Given the description of an element on the screen output the (x, y) to click on. 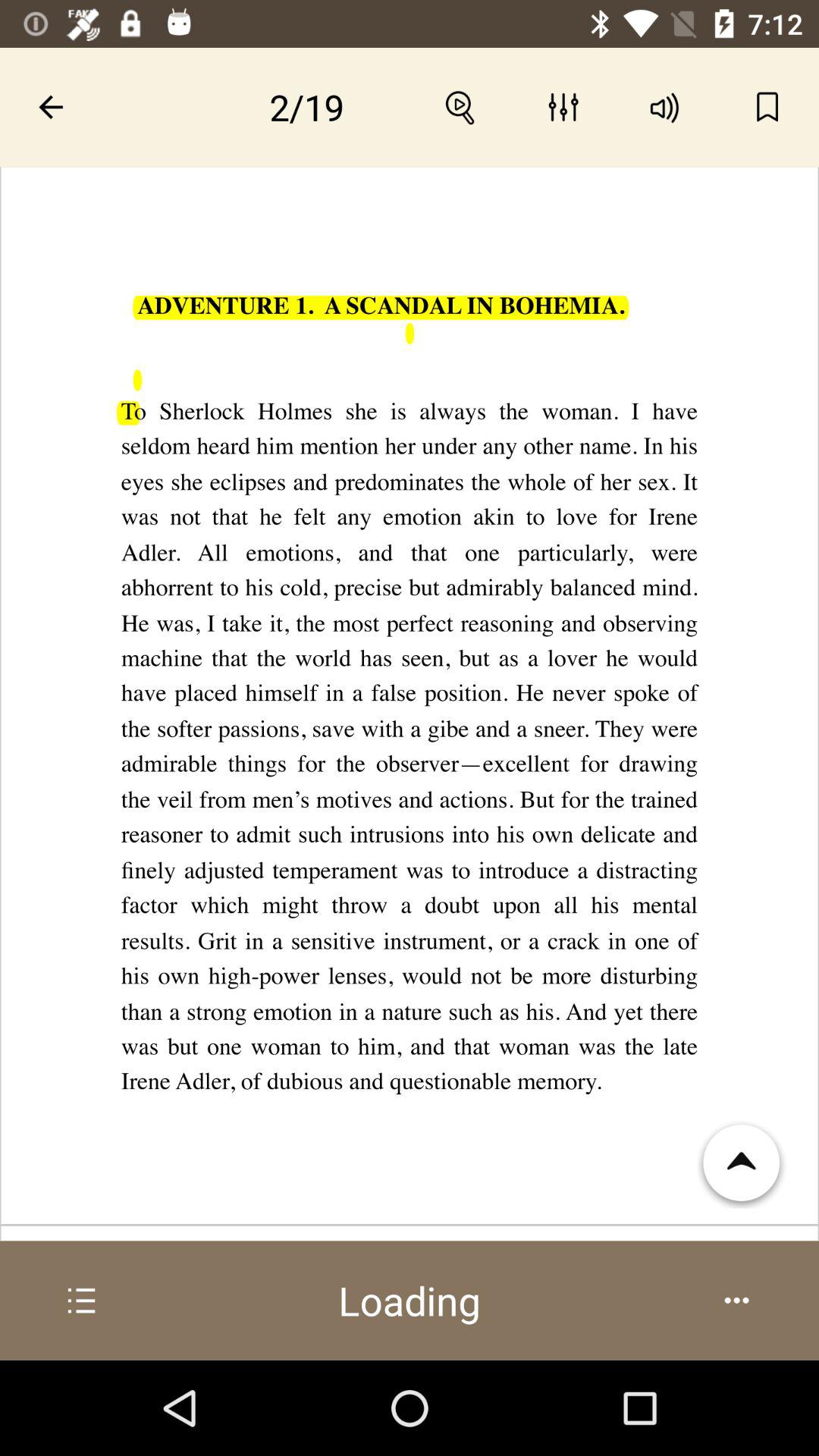
turn on the volume (665, 106)
